Given the description of an element on the screen output the (x, y) to click on. 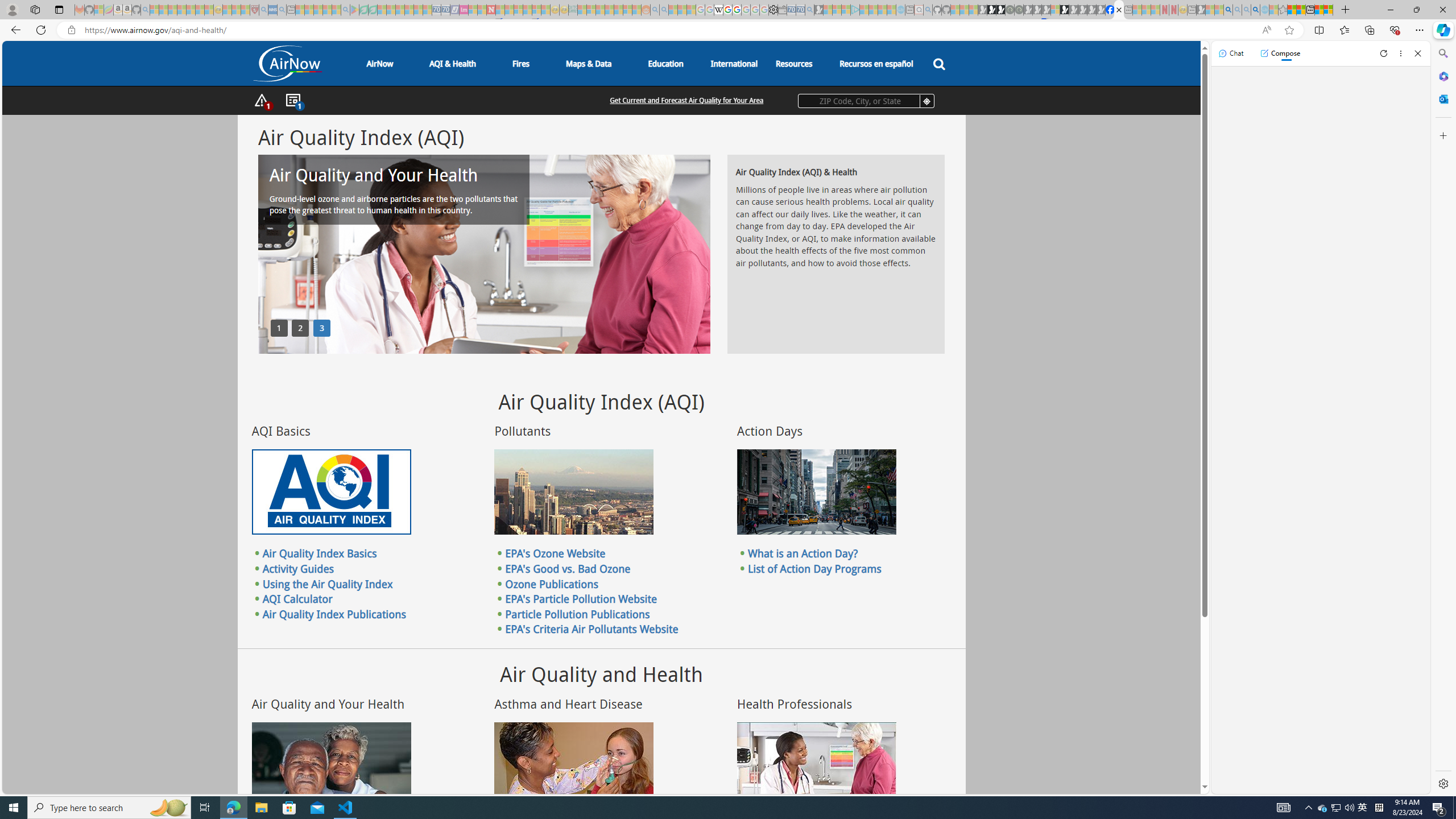
Bing AI - Search (1227, 9)
Local - MSN - Sleeping (244, 9)
